Given the description of an element on the screen output the (x, y) to click on. 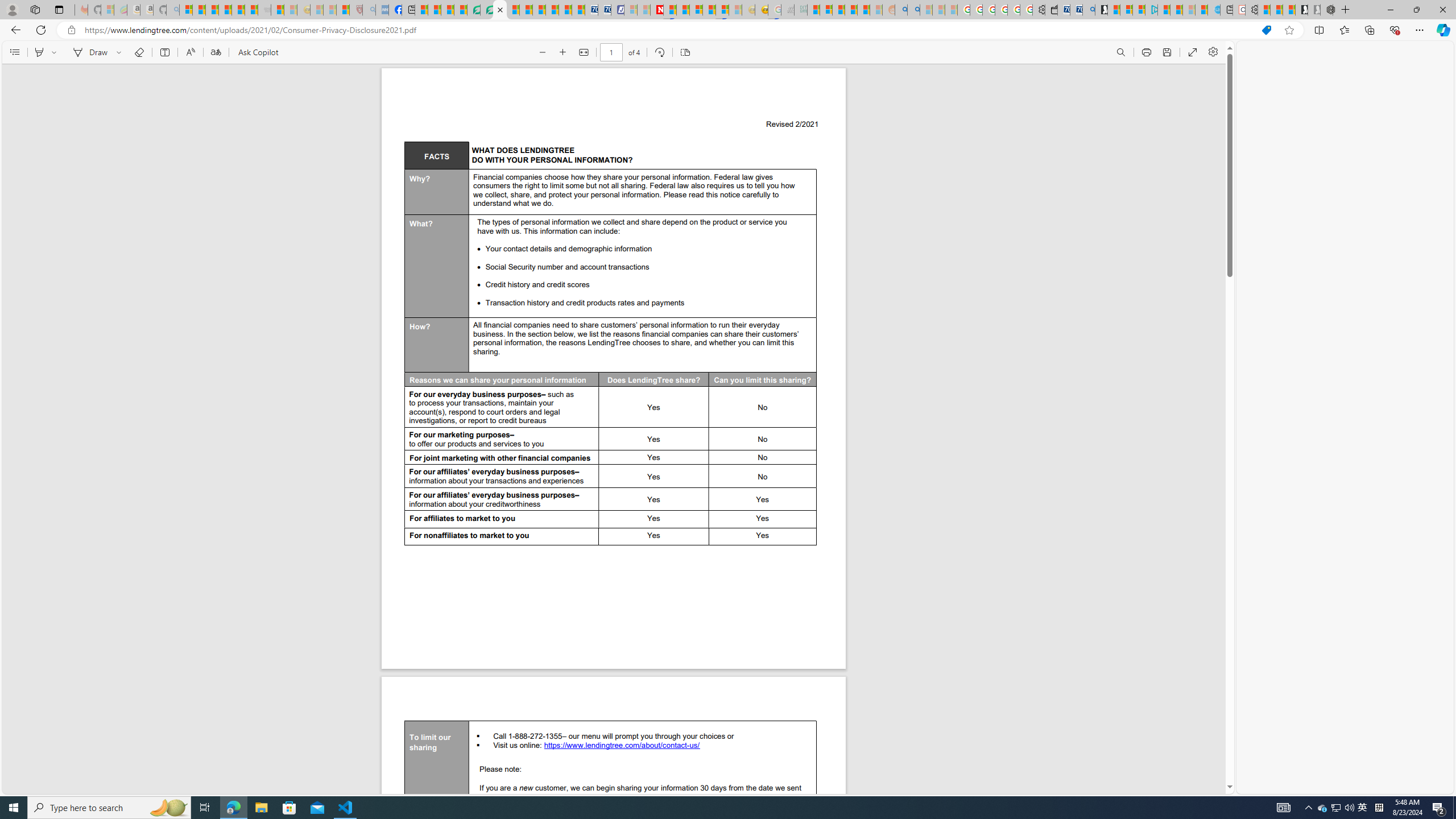
Ask Copilot (257, 52)
Page number (611, 52)
Translate (215, 52)
Contents (14, 52)
Utah sues federal government - Search (913, 9)
Robert H. Shmerling, MD - Harvard Health - Sleeping (355, 9)
